Given the description of an element on the screen output the (x, y) to click on. 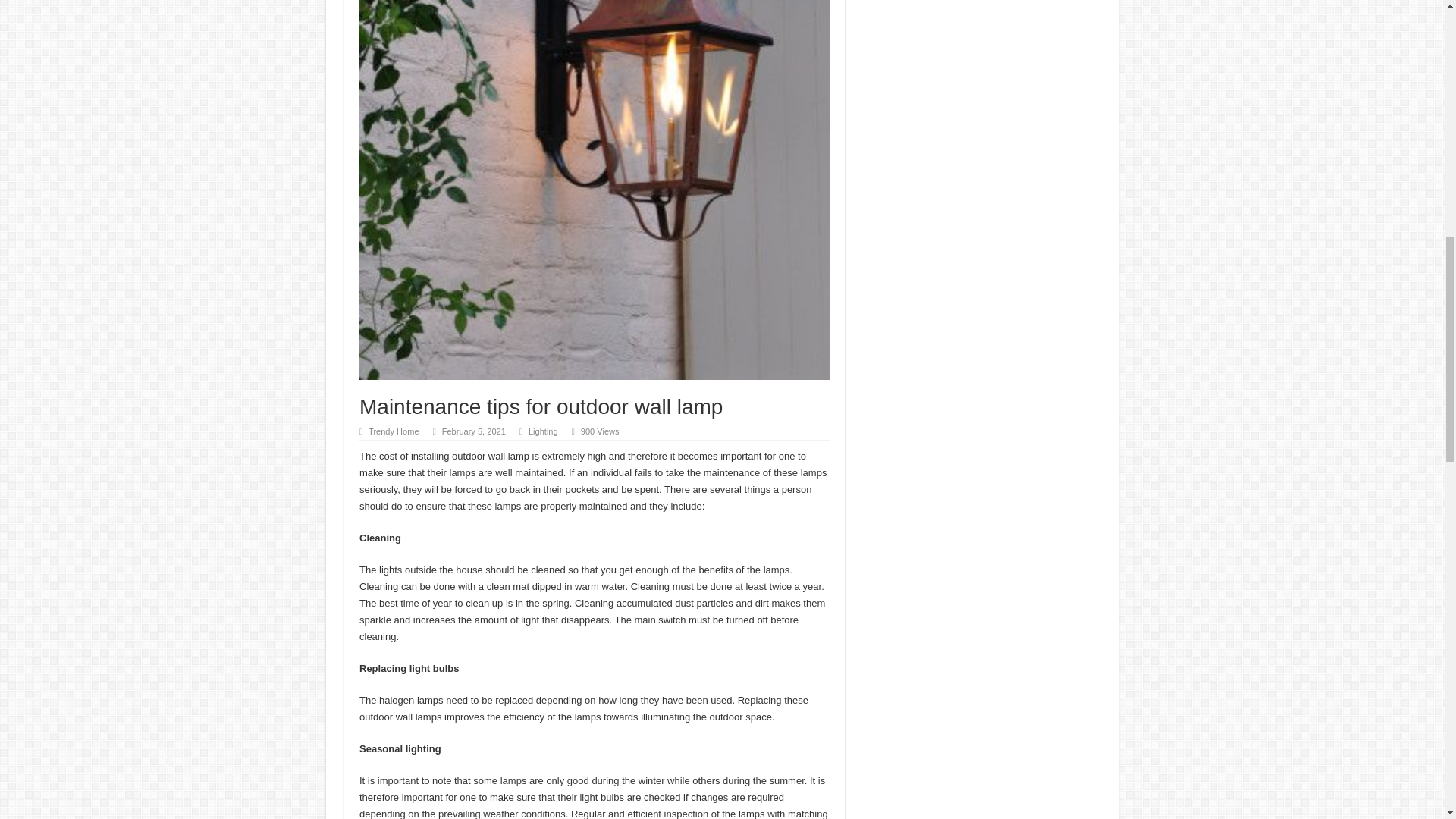
Trendy Home (393, 430)
Lighting (542, 430)
